Given the description of an element on the screen output the (x, y) to click on. 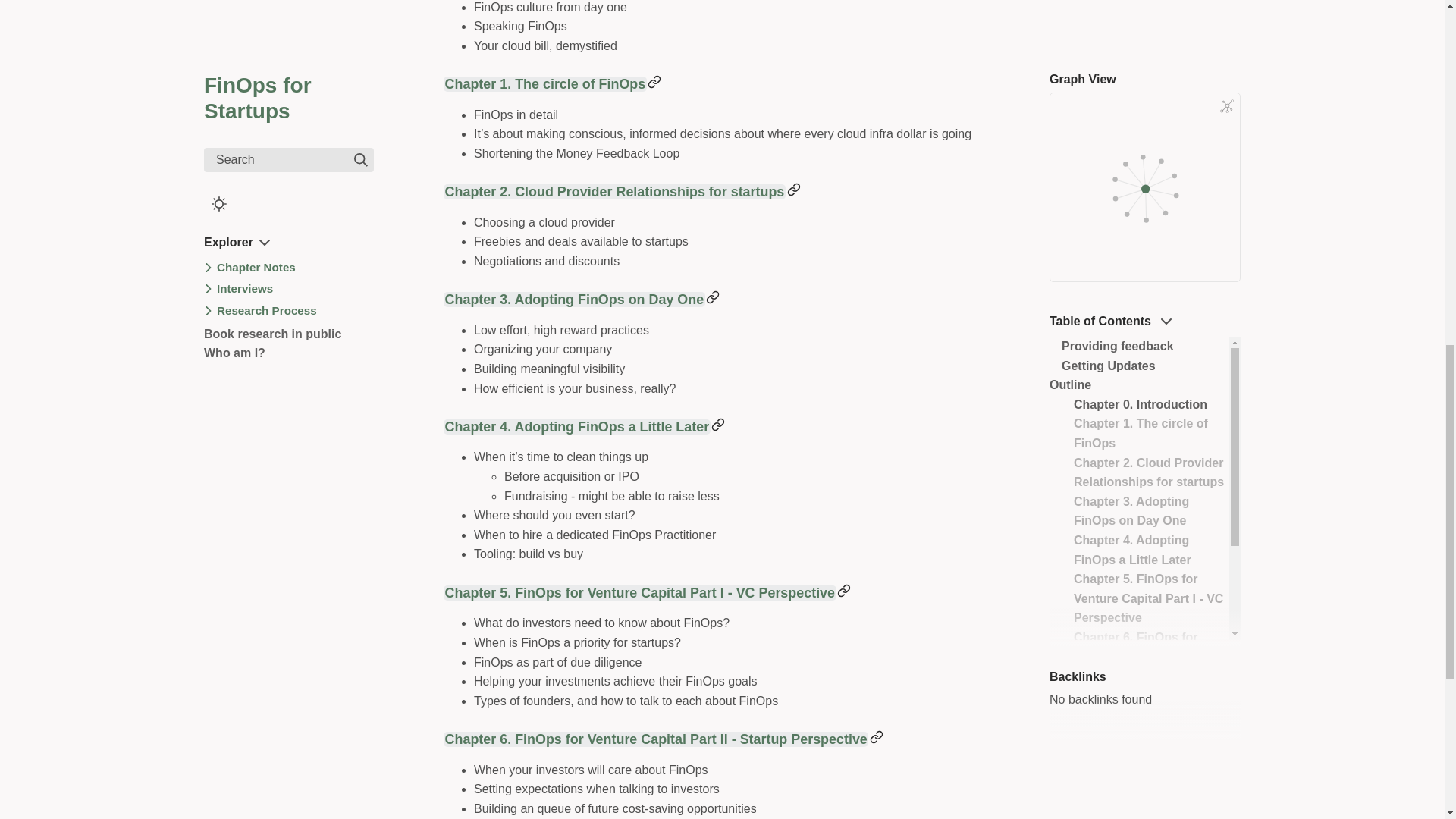
Chapter 2. Cloud Provider Relationships for startups (615, 191)
Chapter 1. The circle of FinOps (545, 83)
